Given the description of an element on the screen output the (x, y) to click on. 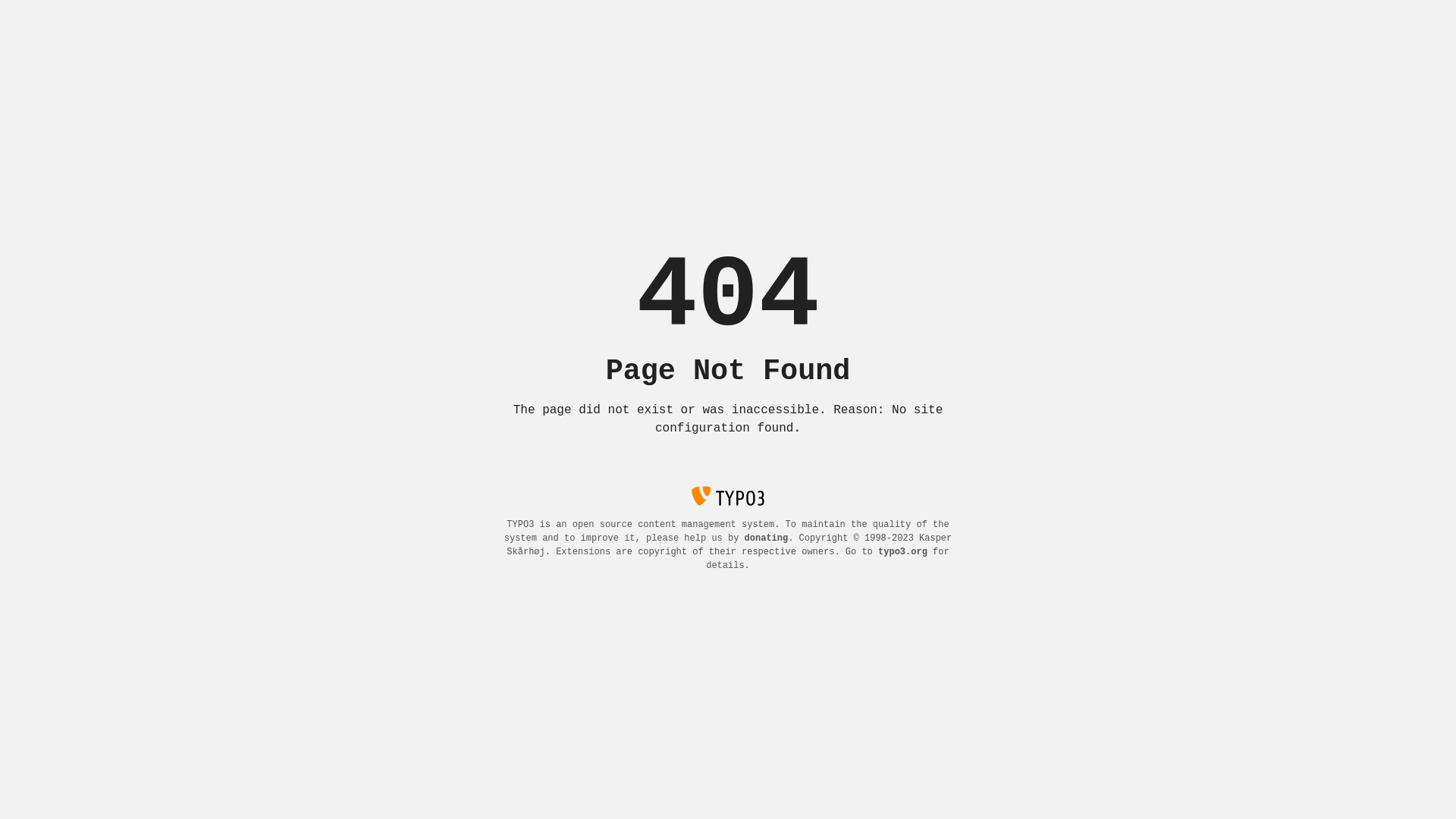
donating Element type: text (766, 538)
typo3.org Element type: text (902, 551)
